Given the description of an element on the screen output the (x, y) to click on. 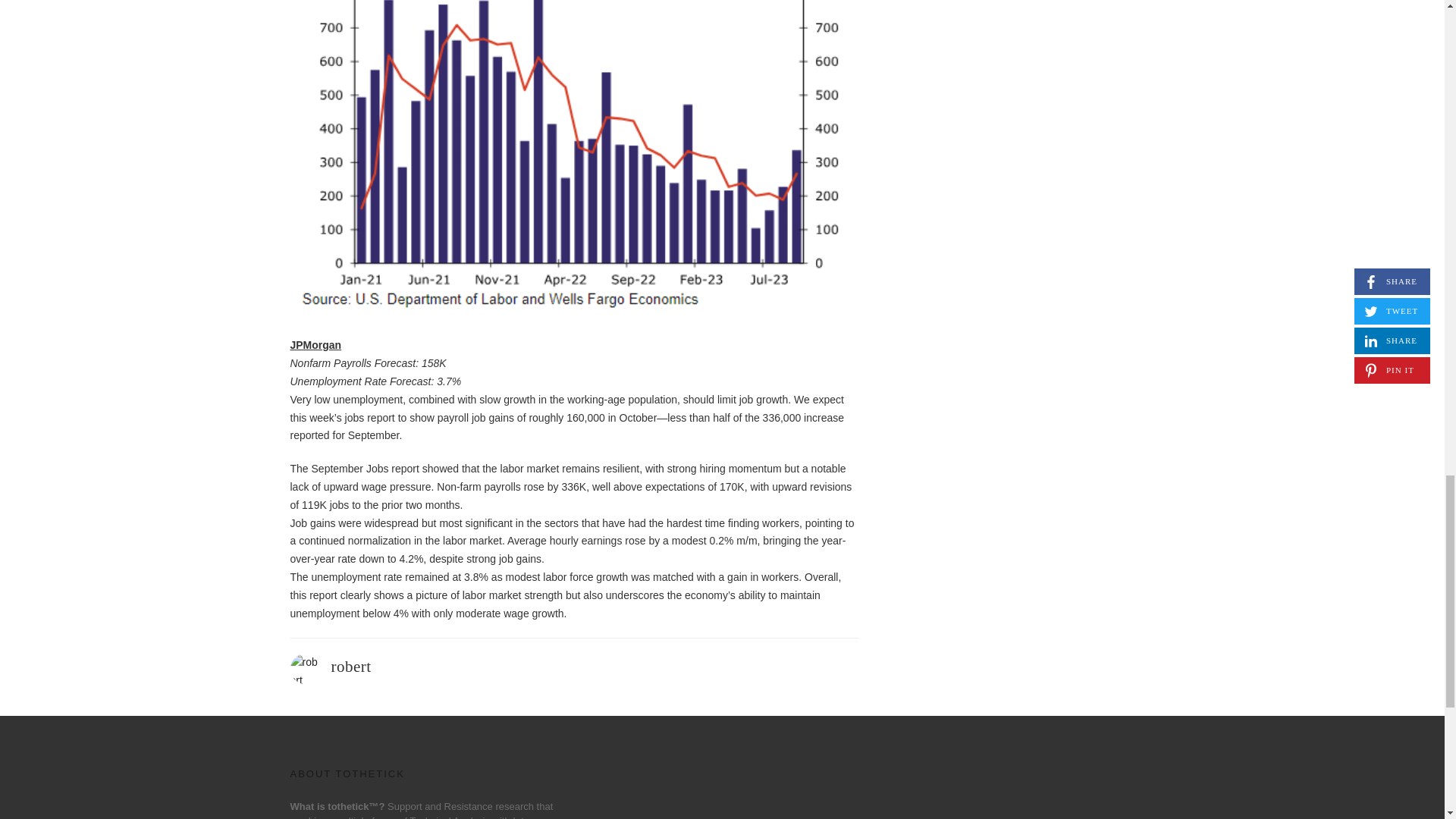
robert (350, 666)
